Given the description of an element on the screen output the (x, y) to click on. 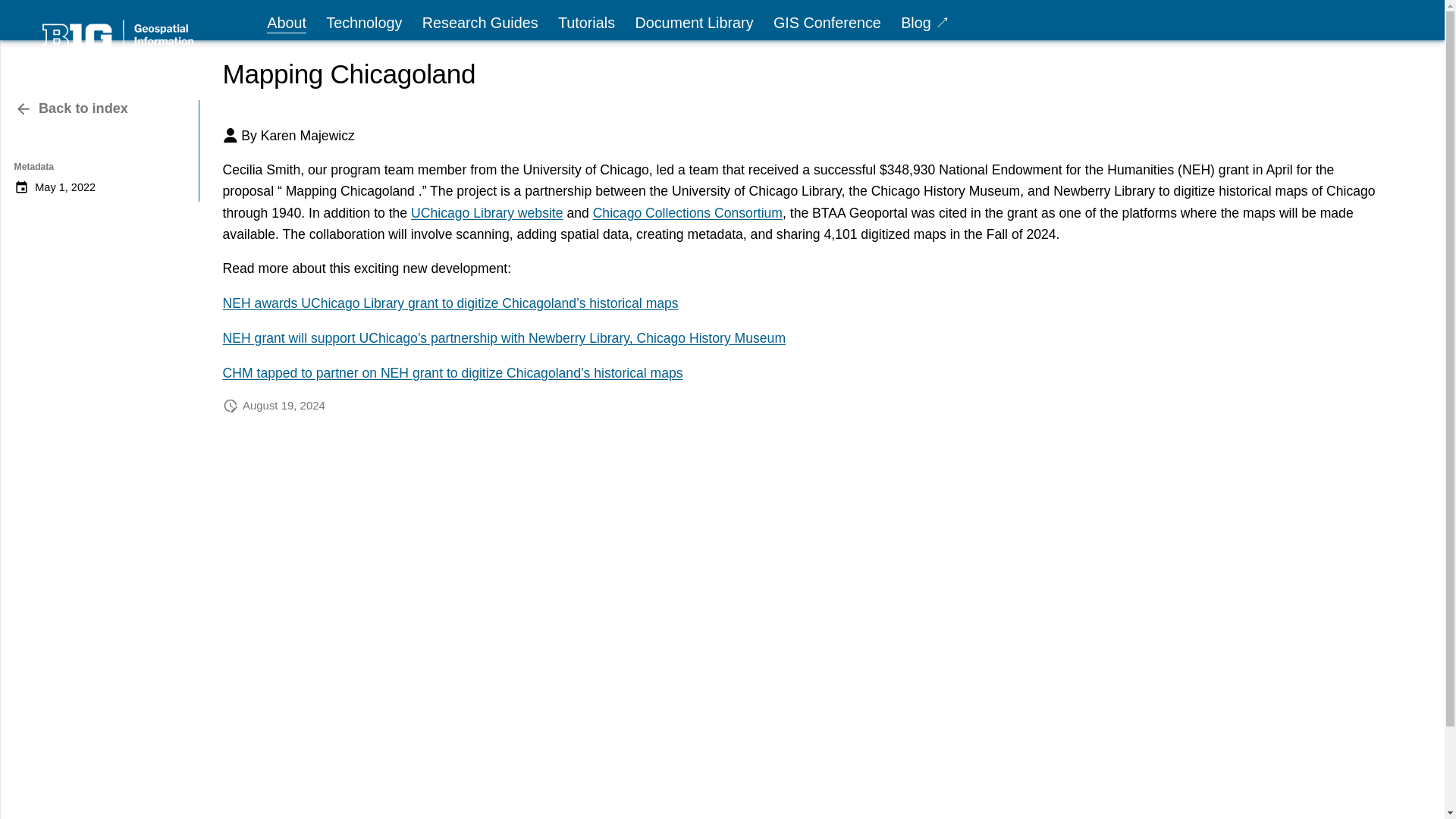
About (285, 23)
Research Guides (479, 23)
Tutorials (585, 23)
Technology (363, 23)
Back to index (101, 151)
Chicago Collections Consortium (71, 108)
Document Library (687, 212)
Last update (693, 23)
GIS Conference (230, 405)
